Given the description of an element on the screen output the (x, y) to click on. 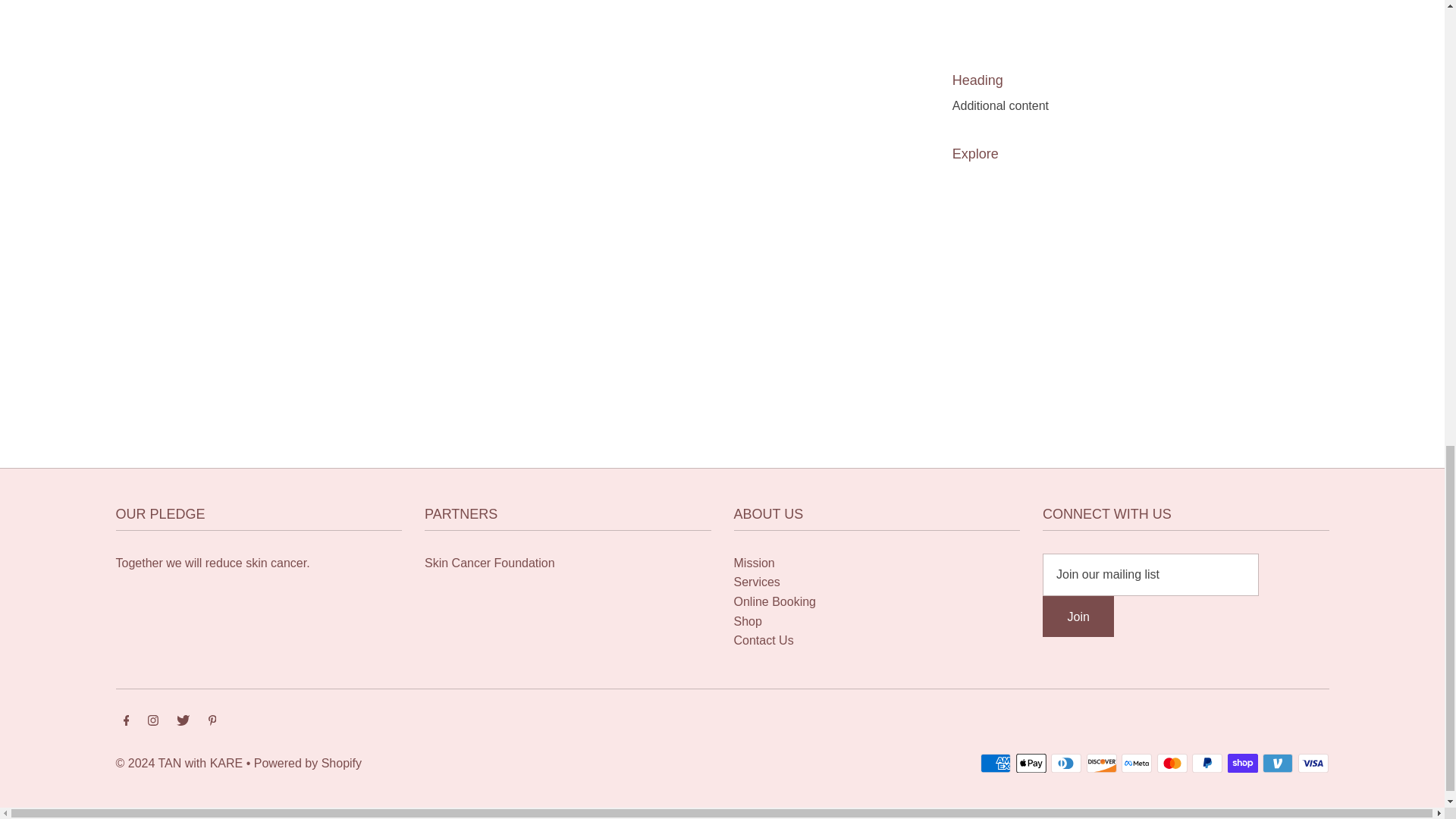
Join (1077, 616)
Diners Club (1066, 763)
Apple Pay (1031, 763)
American Express (994, 763)
